Given the description of an element on the screen output the (x, y) to click on. 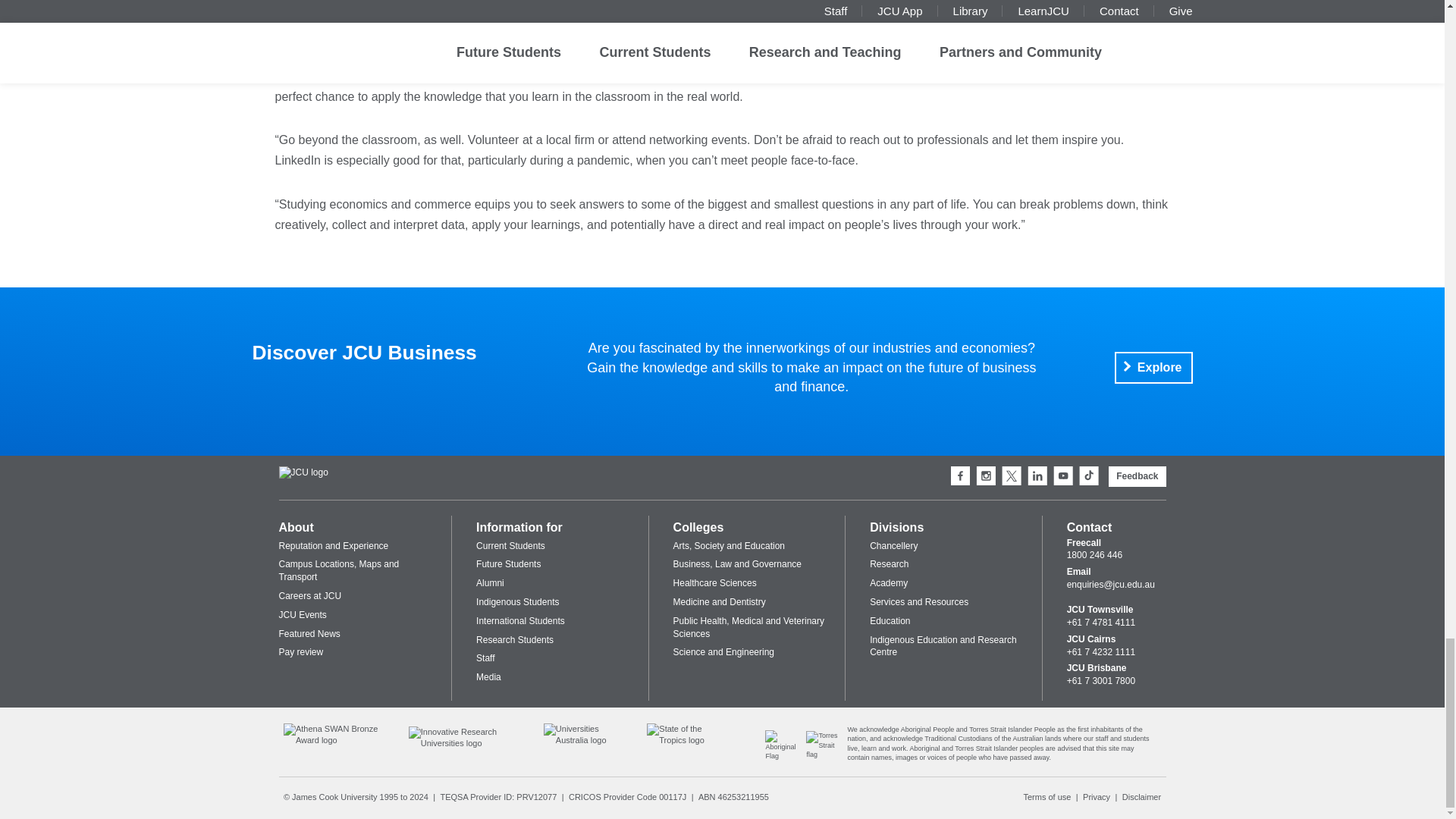
Go to JCU Youtube (1062, 476)
Go to JCU Twitter (1011, 476)
JCU feedback (1137, 476)
State of the tropics (687, 740)
Athena SWAN Bronze Award (336, 740)
Go to JCU Facebook (959, 476)
Go to JCU TikTok (1088, 476)
Go to Indigenous Education and Research Centre (826, 754)
Go to Indigenous Education and Research Centre (785, 755)
Go to JCU LinkedIn (1036, 476)
